Given the description of an element on the screen output the (x, y) to click on. 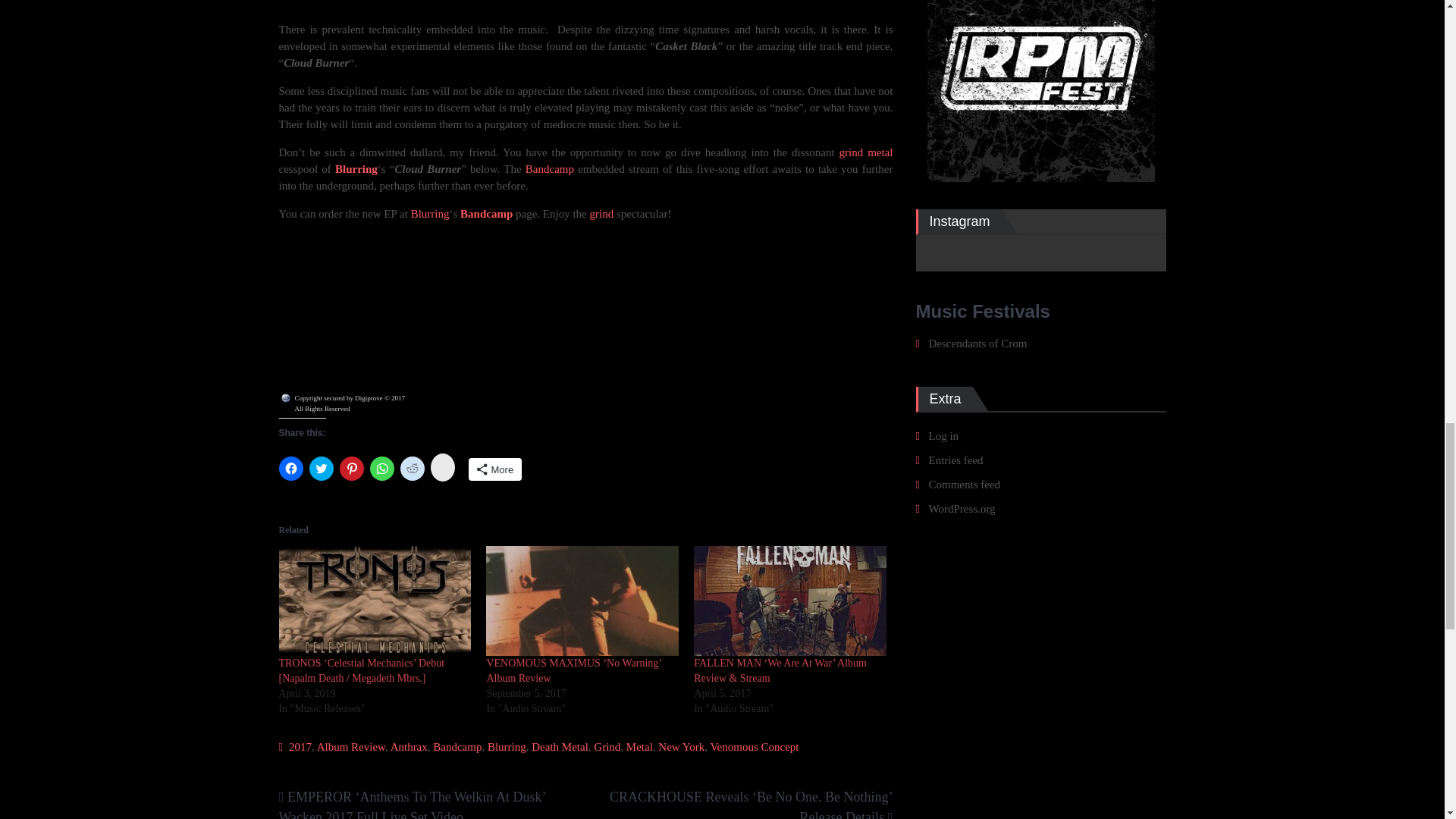
Click to share on WhatsApp (381, 468)
Click to see details of license (342, 408)
Click to share on Pinterest (351, 468)
Click to share on Reddit (412, 468)
Click to share on Facebook (290, 468)
Click to share on Twitter (320, 468)
